Given the description of an element on the screen output the (x, y) to click on. 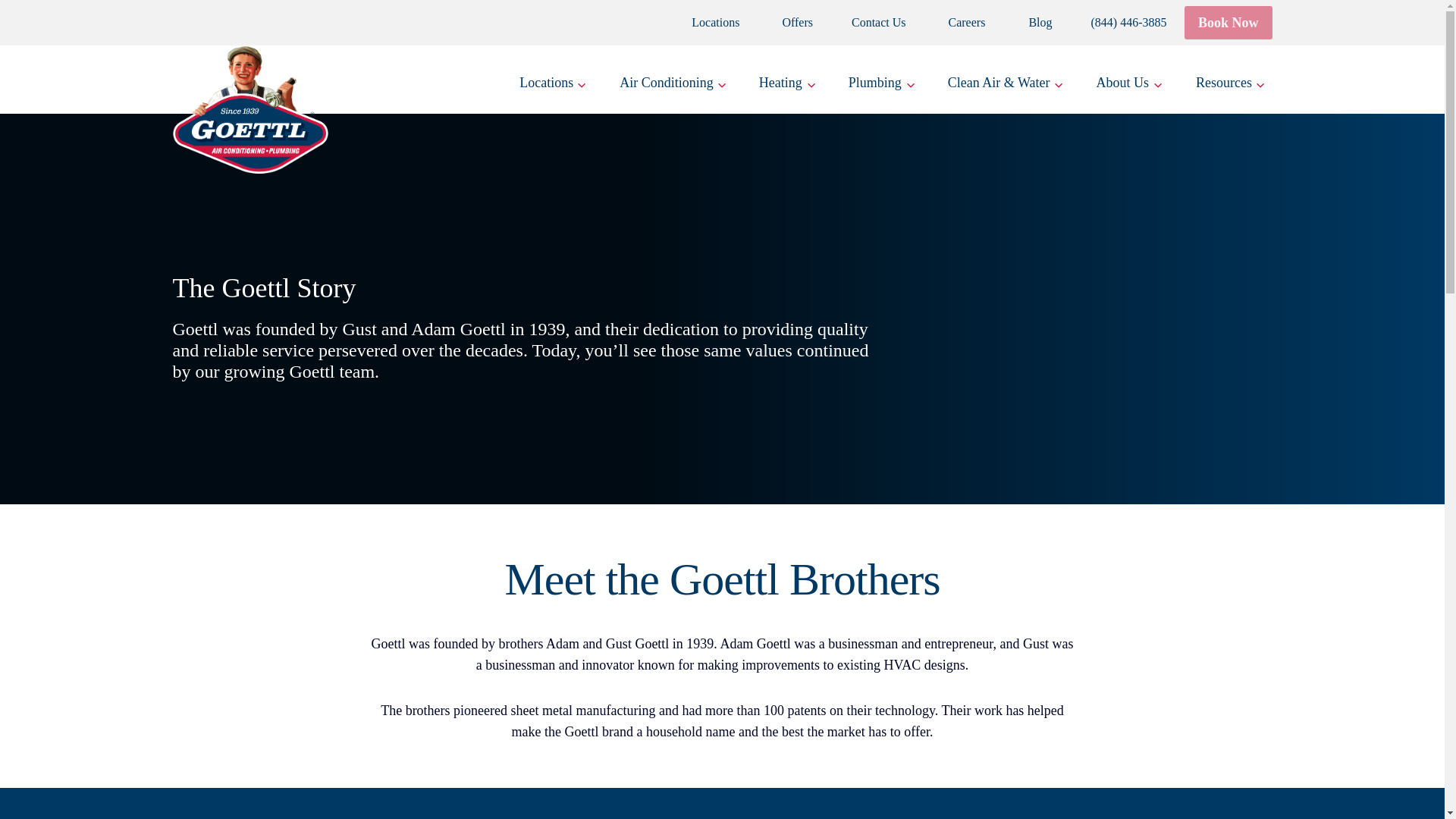
Contact Us (868, 22)
Plumbing (881, 79)
Book Now (1228, 21)
Blog (1028, 22)
Locations (707, 22)
Offers (785, 22)
Air Conditioning (672, 79)
Locations (553, 79)
Careers (955, 22)
Heating (787, 79)
